Given the description of an element on the screen output the (x, y) to click on. 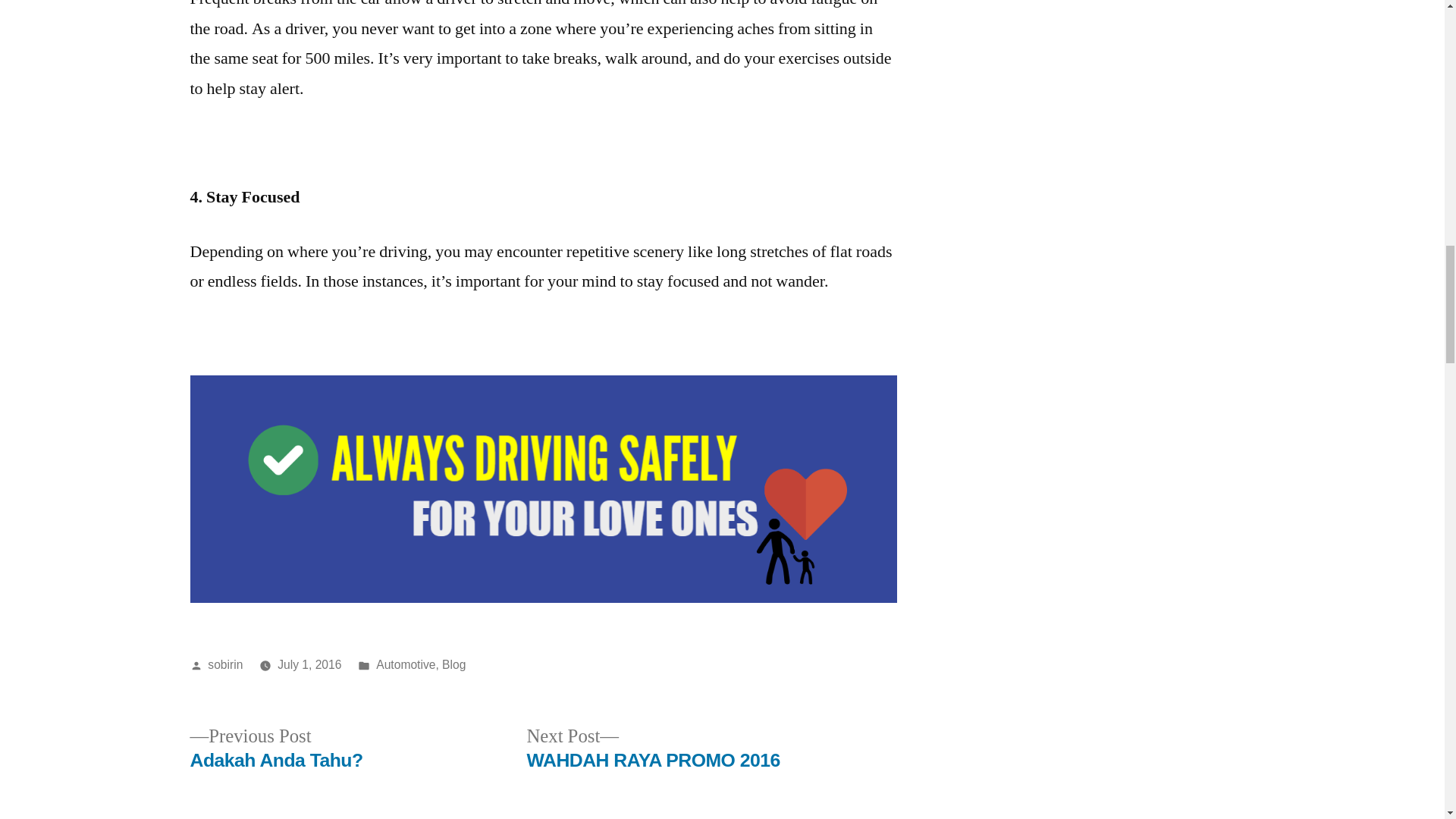
sobirin (275, 748)
Automotive (225, 664)
July 1, 2016 (405, 664)
Blog (309, 664)
